Given the description of an element on the screen output the (x, y) to click on. 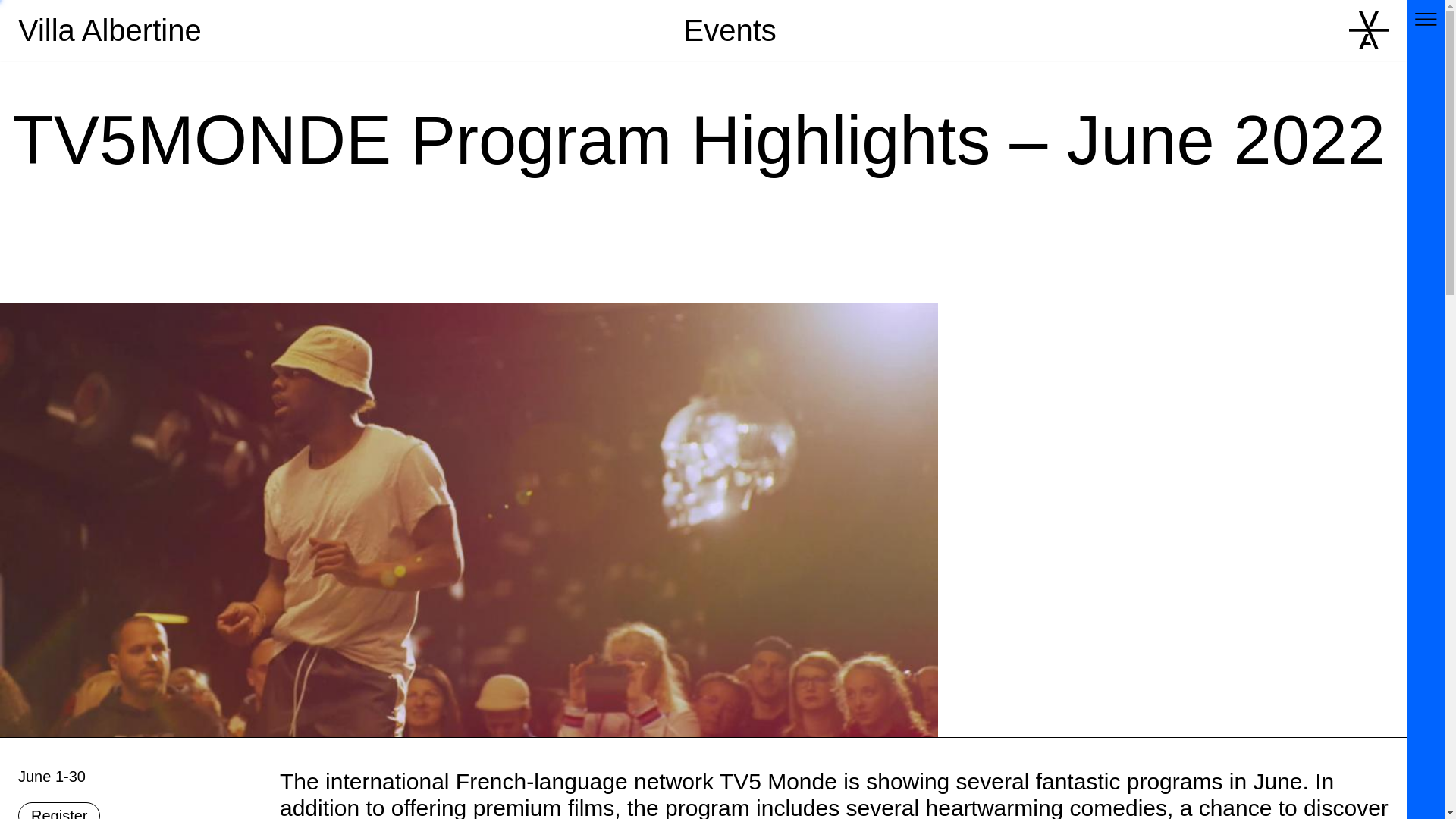
Villa Albertine (109, 29)
Register (58, 810)
Events (730, 29)
